Given the description of an element on the screen output the (x, y) to click on. 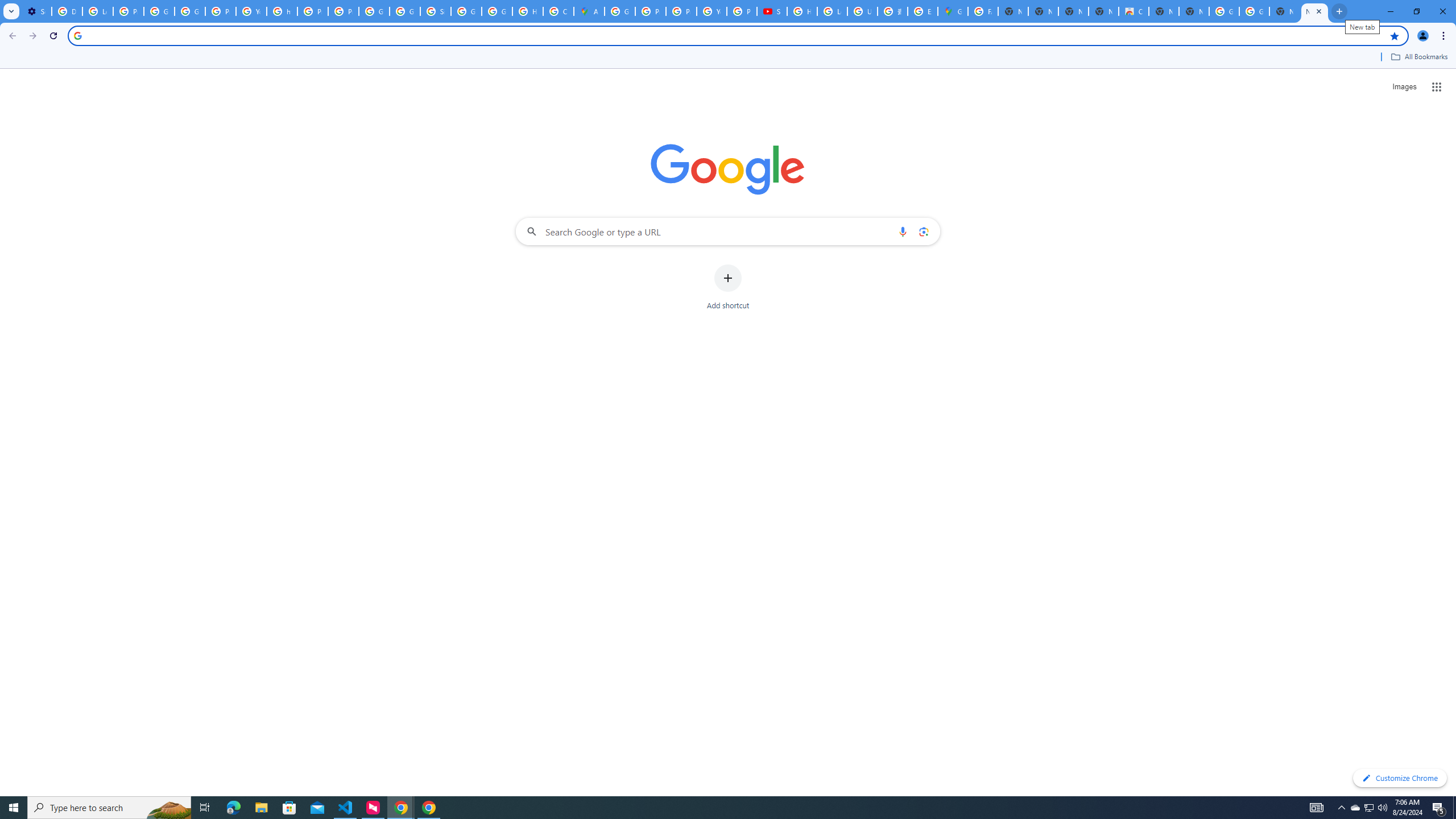
Delete photos & videos - Computer - Google Photos Help (66, 11)
Privacy Help Center - Policies Help (650, 11)
Search Google or type a URL (727, 230)
YouTube (711, 11)
Settings - Performance (36, 11)
